Given the description of an element on the screen output the (x, y) to click on. 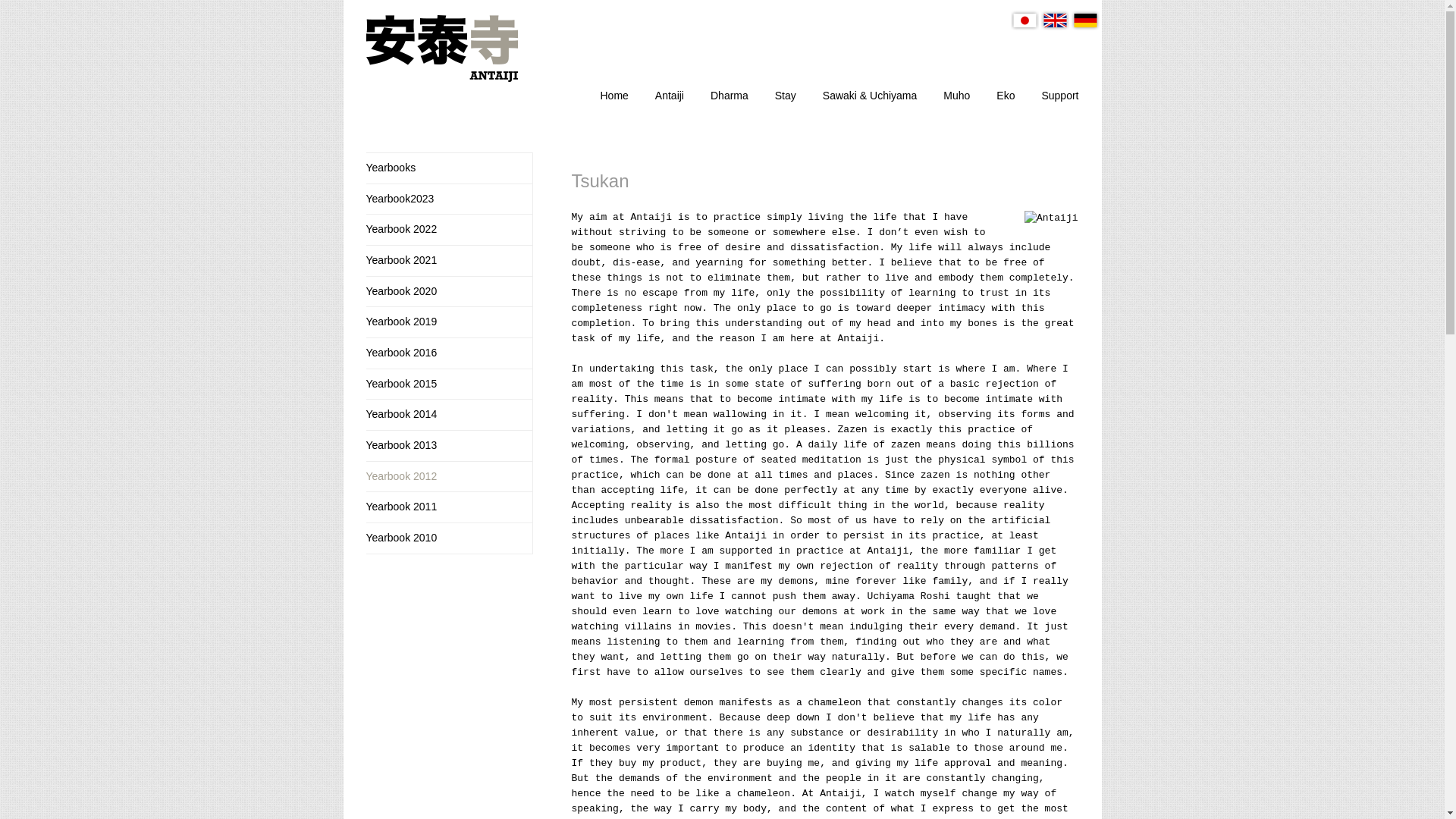
Back to Parent Page (448, 168)
Yearbooks (448, 168)
Dharma (729, 94)
Support (1059, 94)
Antaiji (669, 94)
Home (613, 94)
Eko (1004, 94)
Stay (785, 94)
Muho (956, 94)
